Given the description of an element on the screen output the (x, y) to click on. 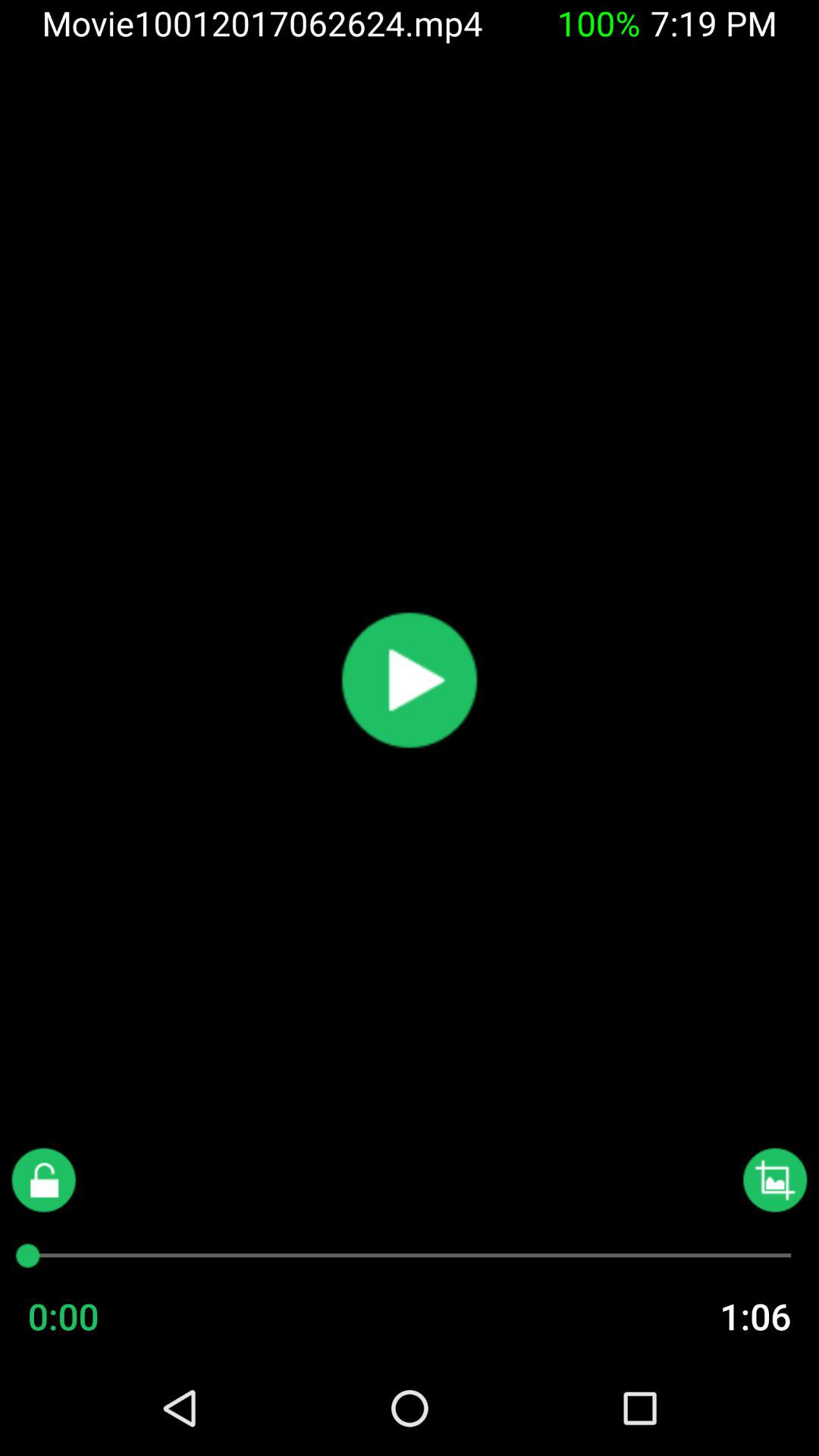
press the 0:00 icon (93, 1315)
